Given the description of an element on the screen output the (x, y) to click on. 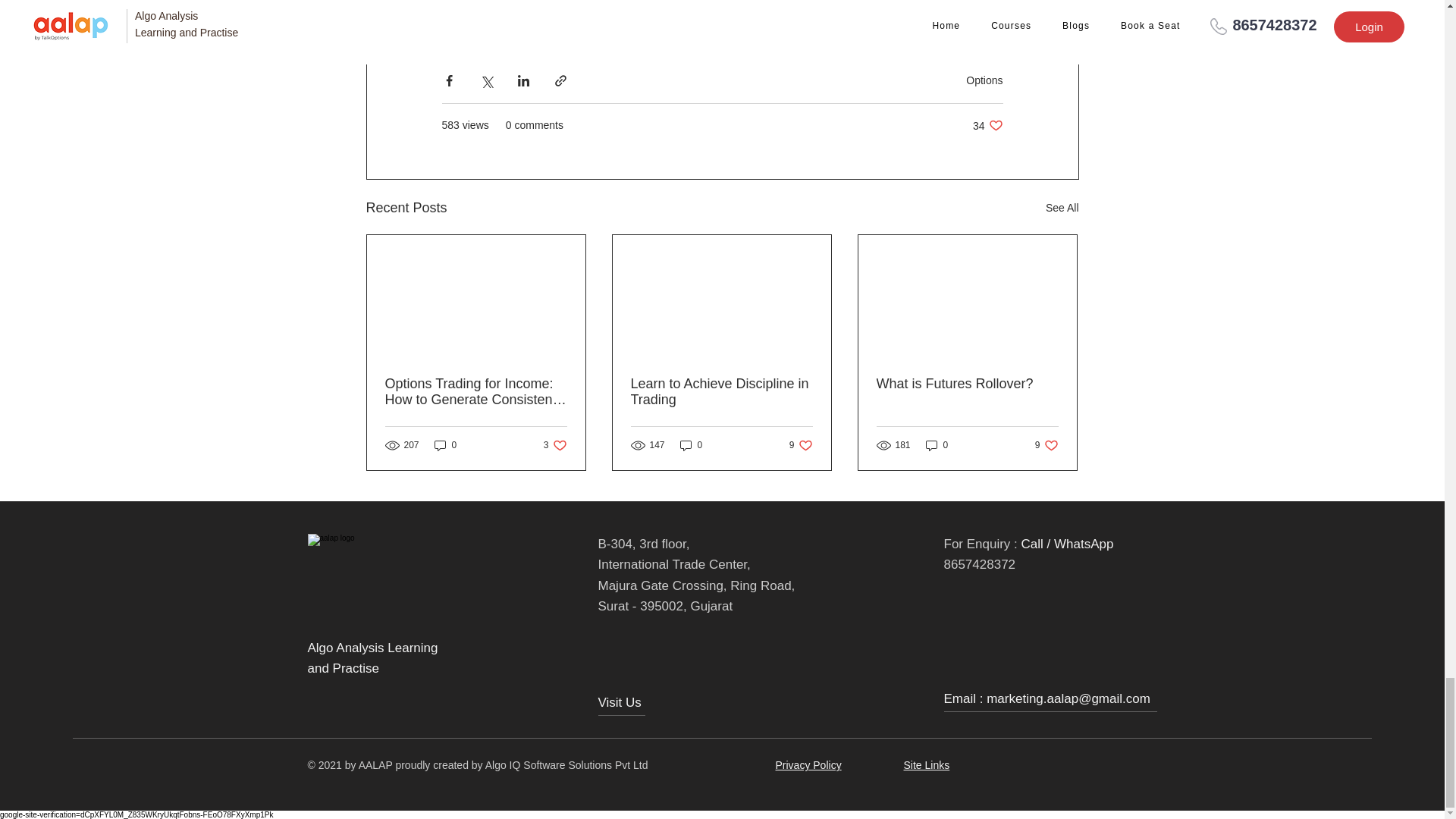
Futures Contract (800, 445)
Futures Contract Example (987, 124)
0 (490, 22)
0 (725, 22)
Derivative Trading (937, 445)
0 (555, 445)
See All (691, 445)
Forward Contract (855, 22)
Options (445, 445)
What is Futures Rollover? (1046, 445)
